Given the description of an element on the screen output the (x, y) to click on. 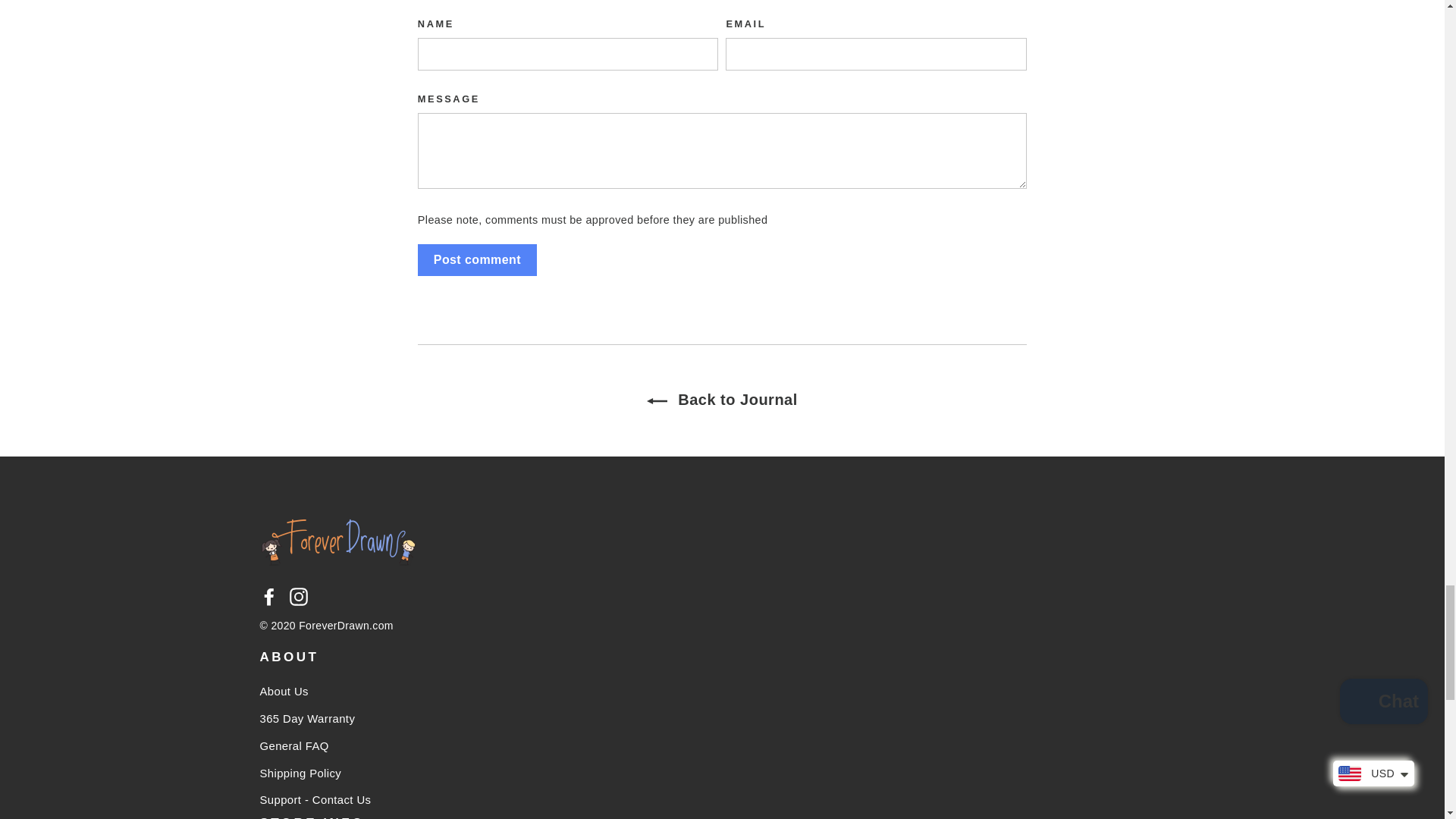
Post comment (477, 260)
Forever Drawn on Instagram (298, 596)
Forever Drawn on Facebook (268, 596)
